Given the description of an element on the screen output the (x, y) to click on. 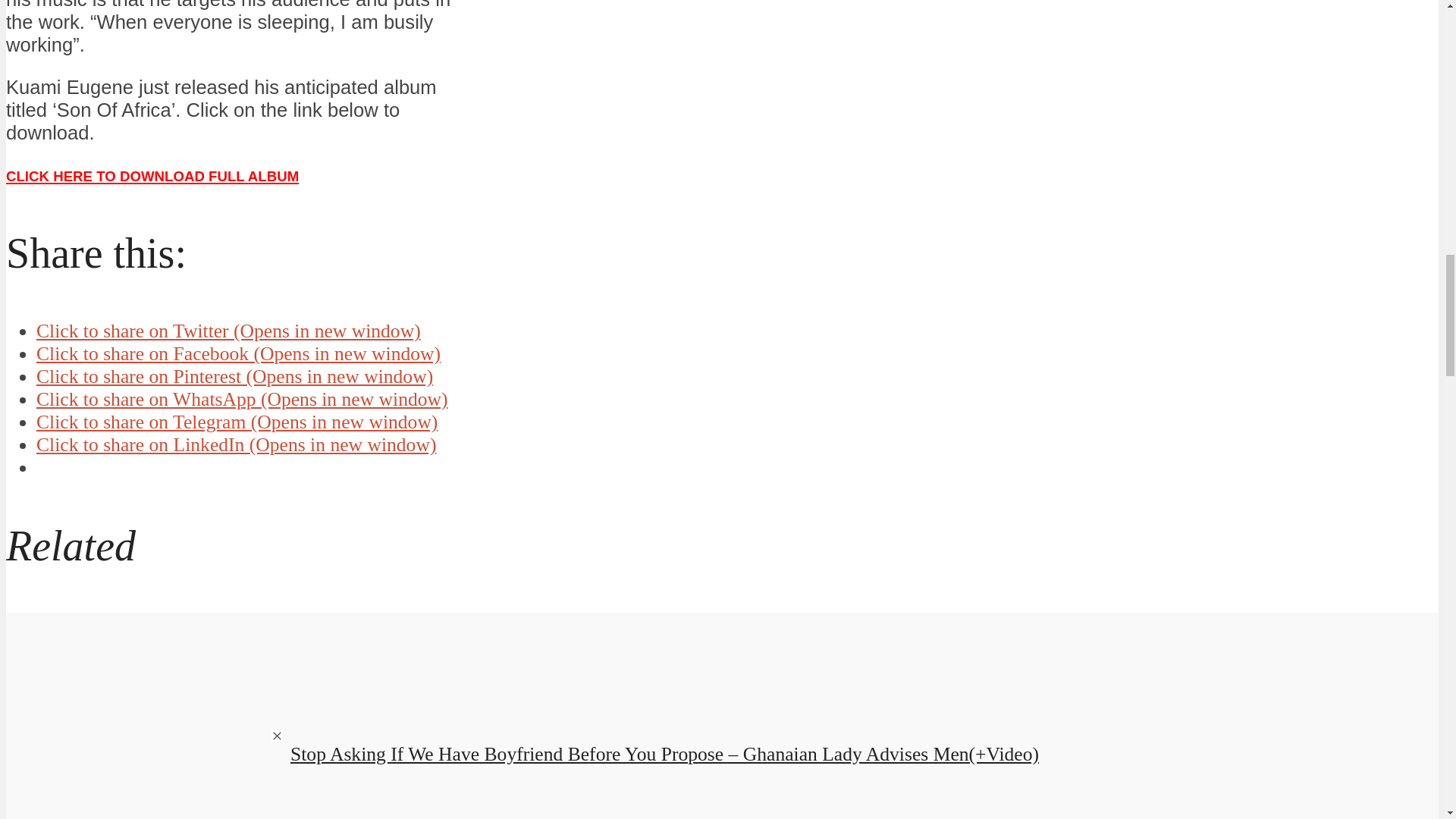
Click to share on Pinterest (234, 376)
Click to share on WhatsApp (242, 399)
CLICK HERE TO DOWNLOAD FULL ALBUM (151, 174)
Click to share on Telegram (237, 422)
Click to share on Twitter (228, 331)
Click to share on LinkedIn (235, 444)
Click to share on Facebook (238, 353)
